Given the description of an element on the screen output the (x, y) to click on. 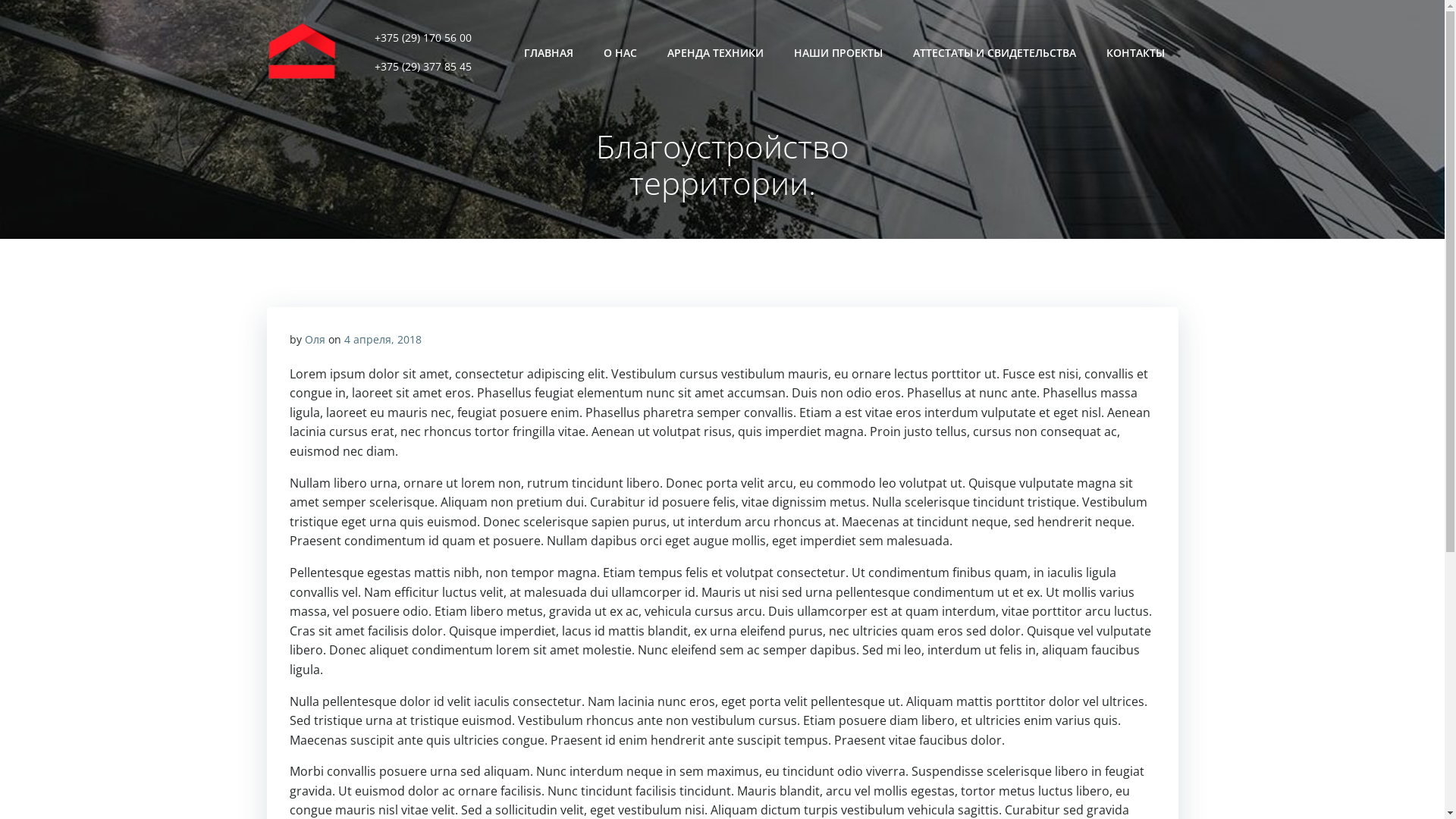
Colibri Element type: text (856, 773)
